Given the description of an element on the screen output the (x, y) to click on. 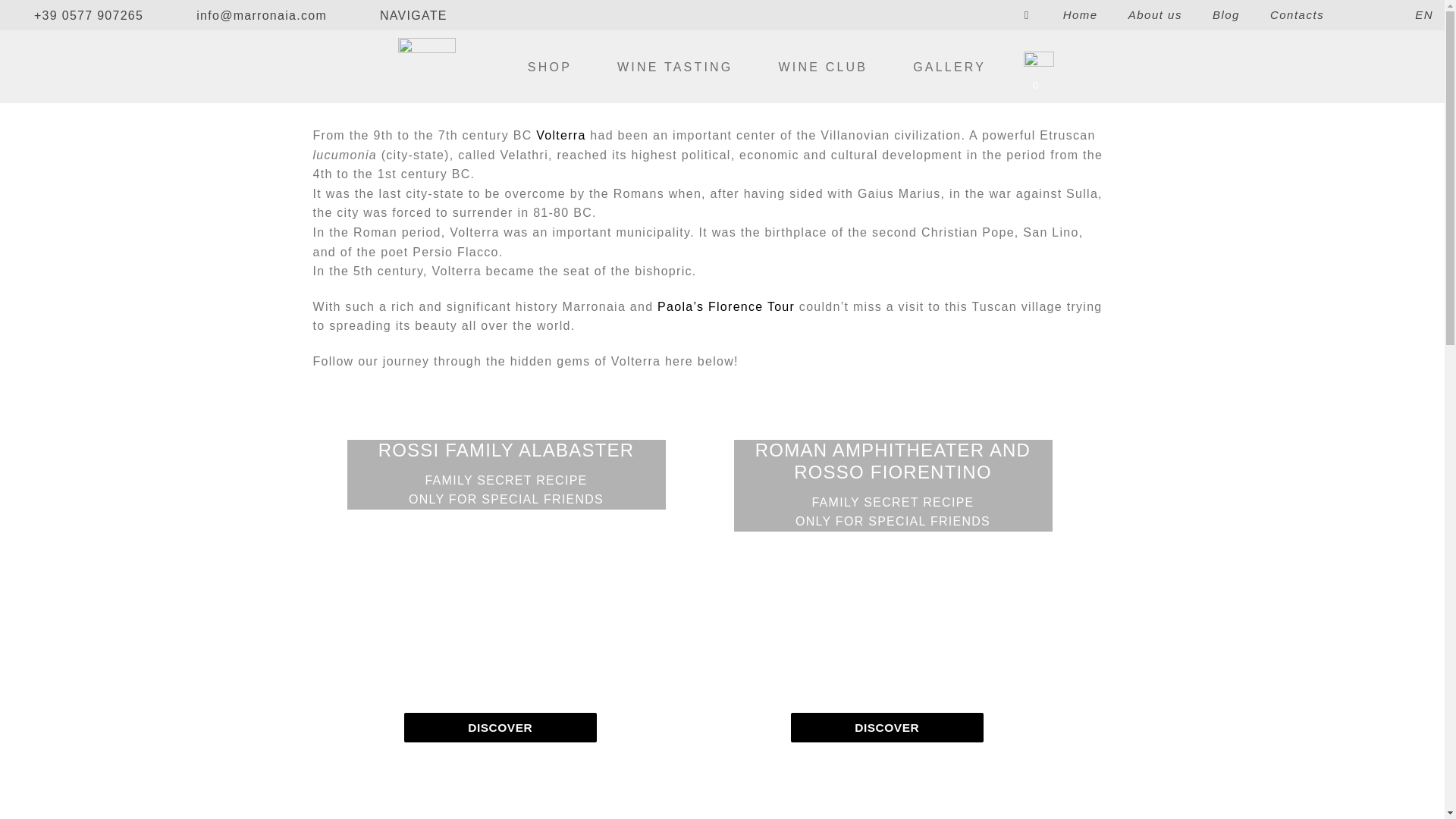
Contacts (1296, 14)
Home (1079, 14)
Blog (1226, 14)
EN (1393, 15)
DISCOVER (886, 727)
WINE TASTING (674, 66)
DISCOVER (499, 727)
SHOP (549, 66)
GALLERY (948, 66)
Volterra (560, 134)
EN (1393, 15)
NAVIGATE (413, 14)
About us (1155, 14)
